Given the description of an element on the screen output the (x, y) to click on. 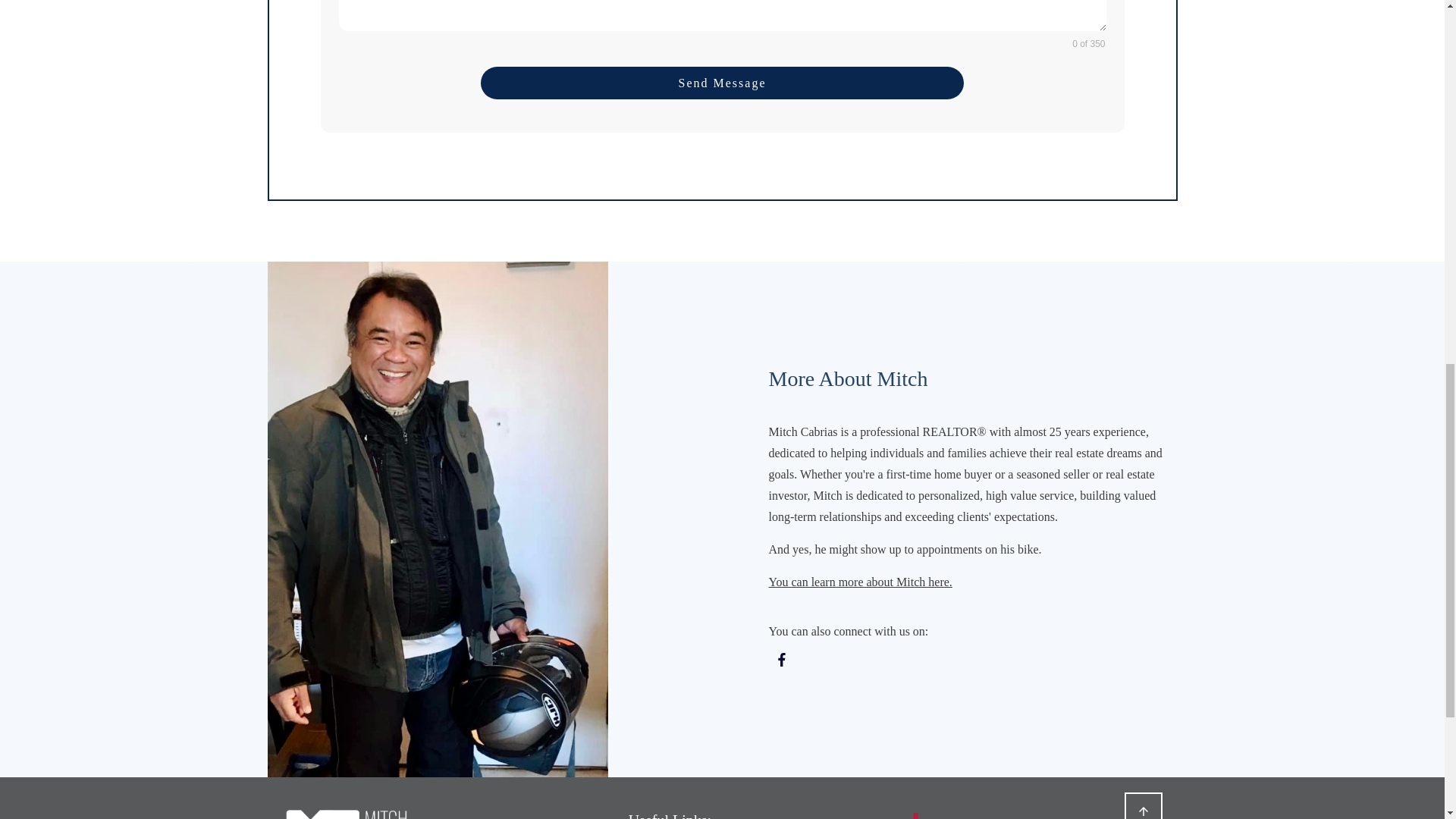
KW Real Estate Brokerage (980, 813)
Send Message (721, 82)
You can learn more about Mitch here. (860, 581)
